Given the description of an element on the screen output the (x, y) to click on. 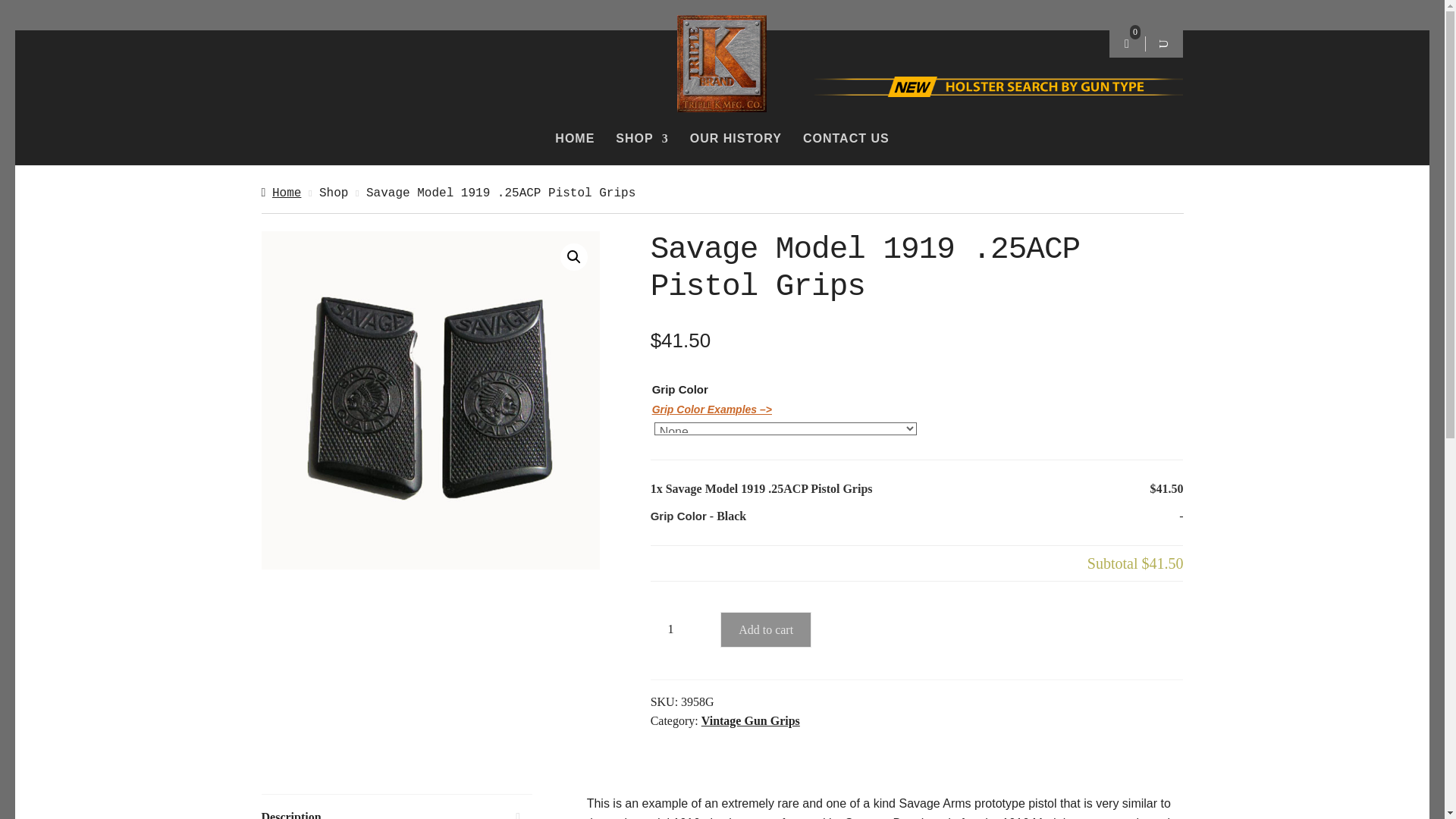
CONTACT US (846, 138)
HOME (574, 138)
1 (676, 629)
OUR HISTORY (735, 138)
SHOP (641, 138)
logo-triplek (722, 63)
2200.jpg (429, 399)
